Given the description of an element on the screen output the (x, y) to click on. 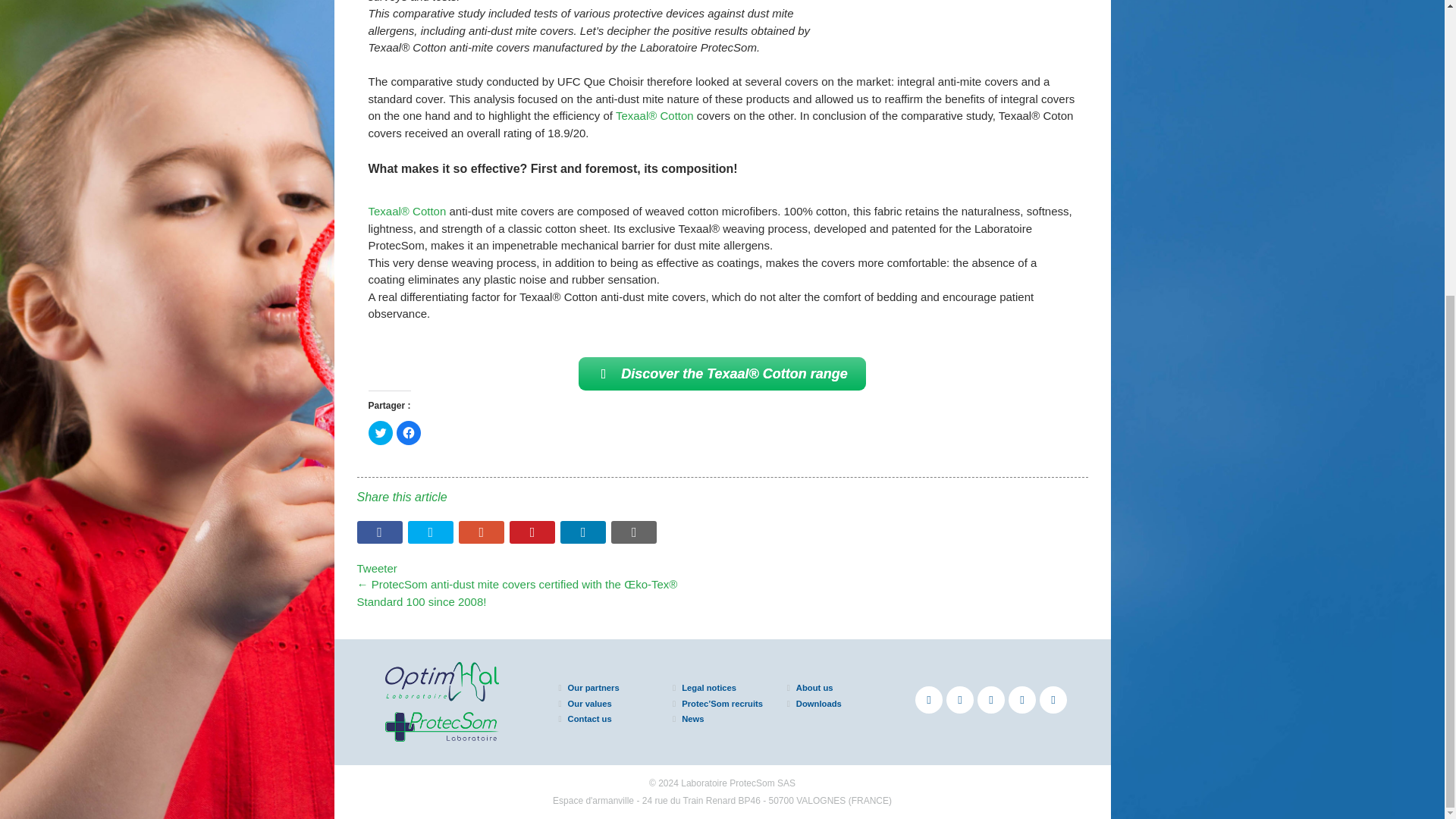
Click to share on Facebook (408, 432)
Twitter (960, 699)
LinkedIn (1022, 699)
Email (633, 531)
Our partners (593, 687)
Facebook (928, 699)
Legal notices (708, 687)
Click to share on Twitter (380, 432)
Facebook (378, 531)
Instagram (1053, 699)
